Given the description of an element on the screen output the (x, y) to click on. 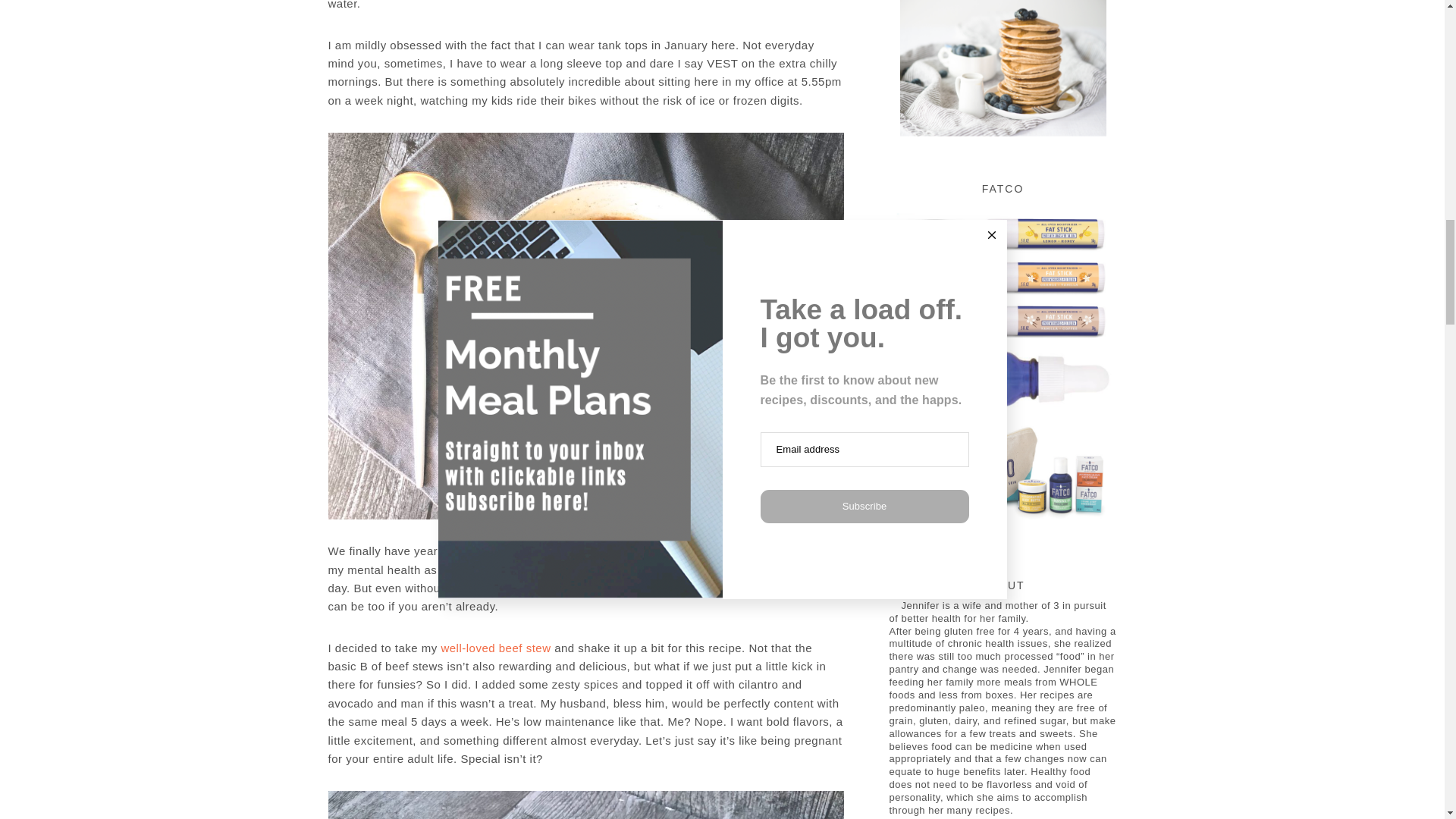
well-loved beef stew (495, 647)
